Given the description of an element on the screen output the (x, y) to click on. 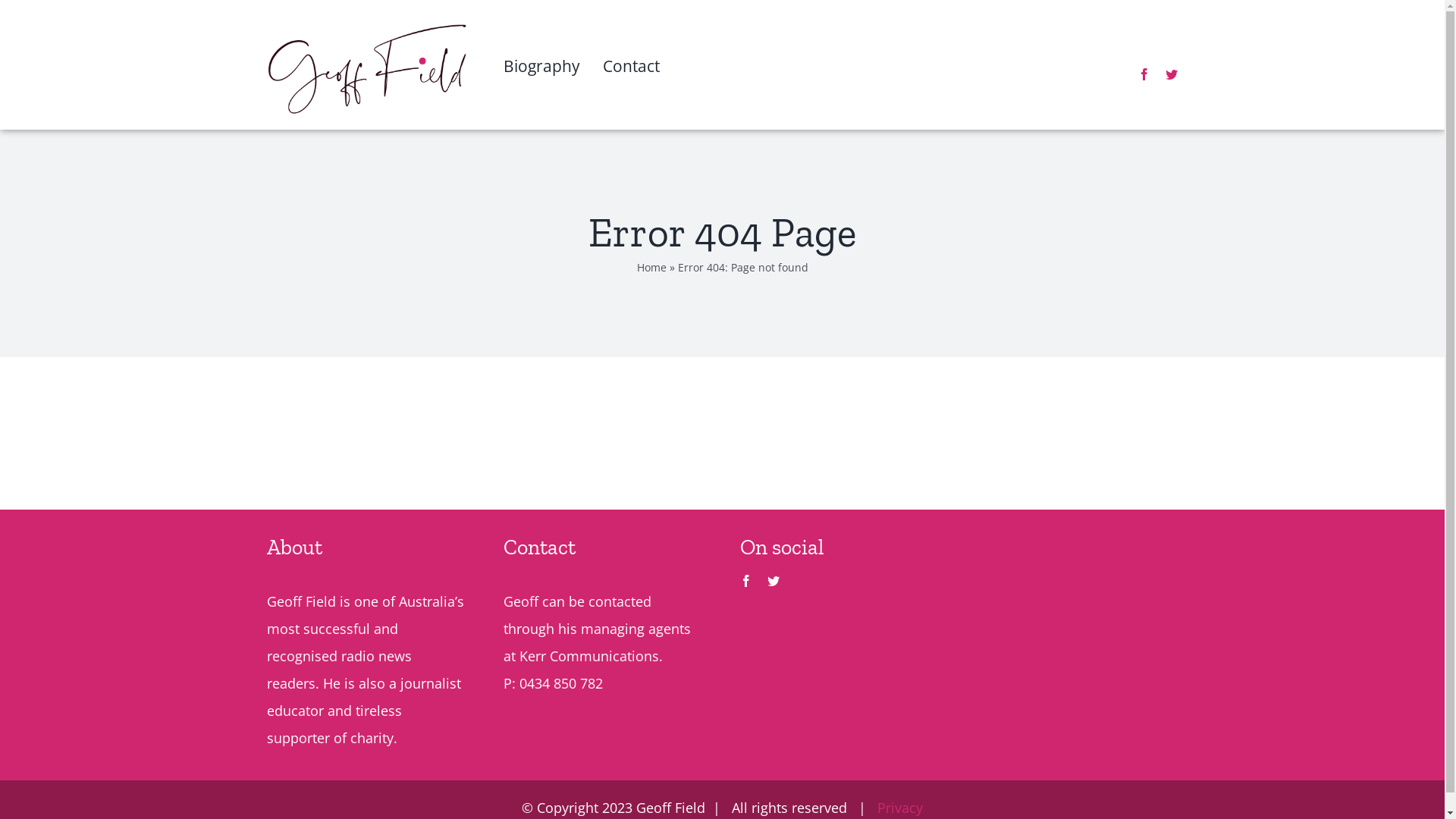
Biography Element type: text (541, 89)
Contact Element type: text (630, 89)
Privacy Element type: text (899, 807)
Home Element type: text (651, 267)
